Given the description of an element on the screen output the (x, y) to click on. 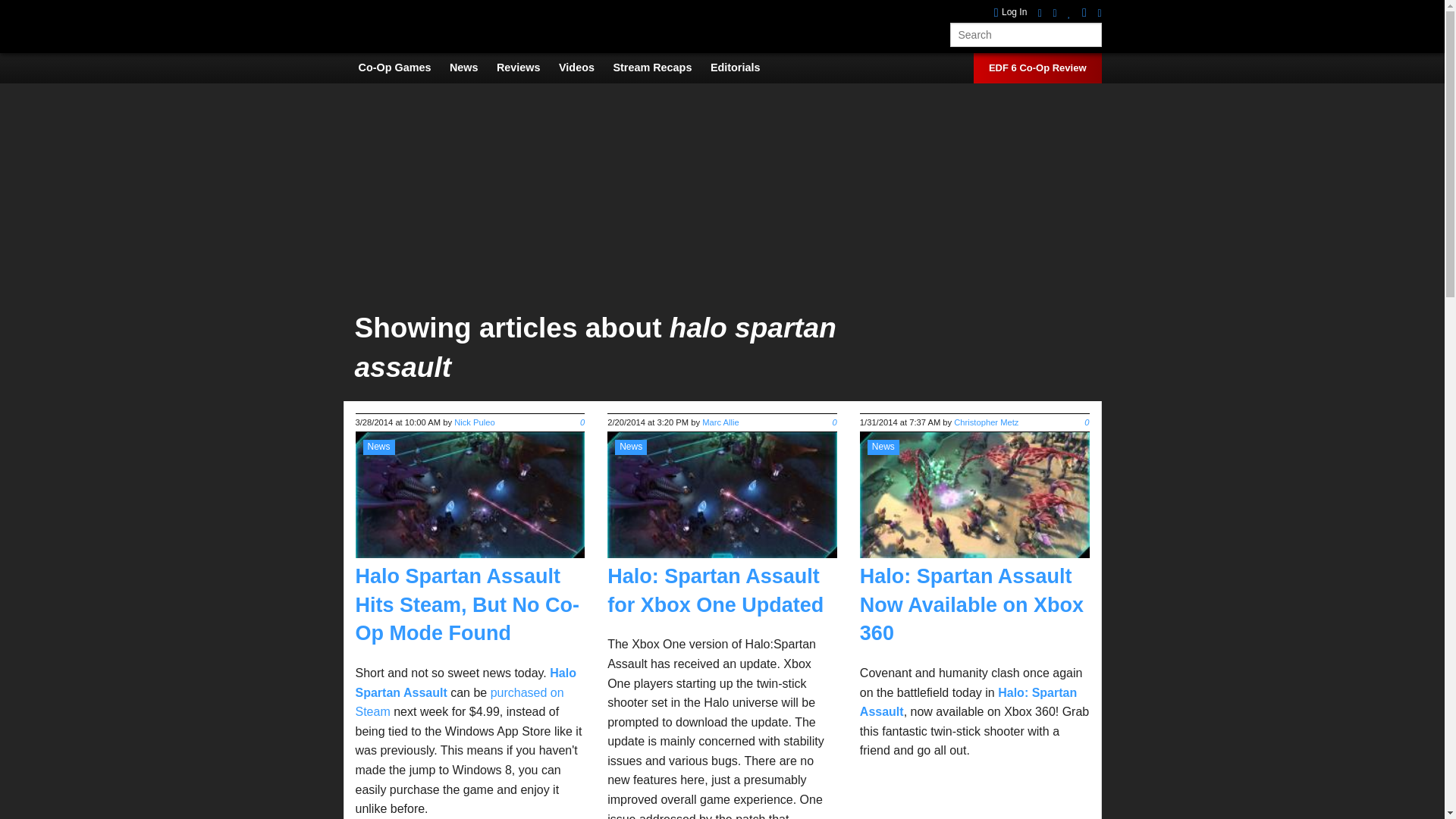
purchased on Steam (459, 702)
Reviews (526, 67)
Marc Allie (720, 421)
Halo Spartan Assault Hits Steam, But No Co-Op Mode Found (467, 605)
Weekly Video Streams and VODs from Co-Optimus (659, 67)
Stream Recaps (659, 67)
login (1010, 11)
Videos (584, 67)
Editorials (743, 67)
Co-Op Games (401, 67)
